Given the description of an element on the screen output the (x, y) to click on. 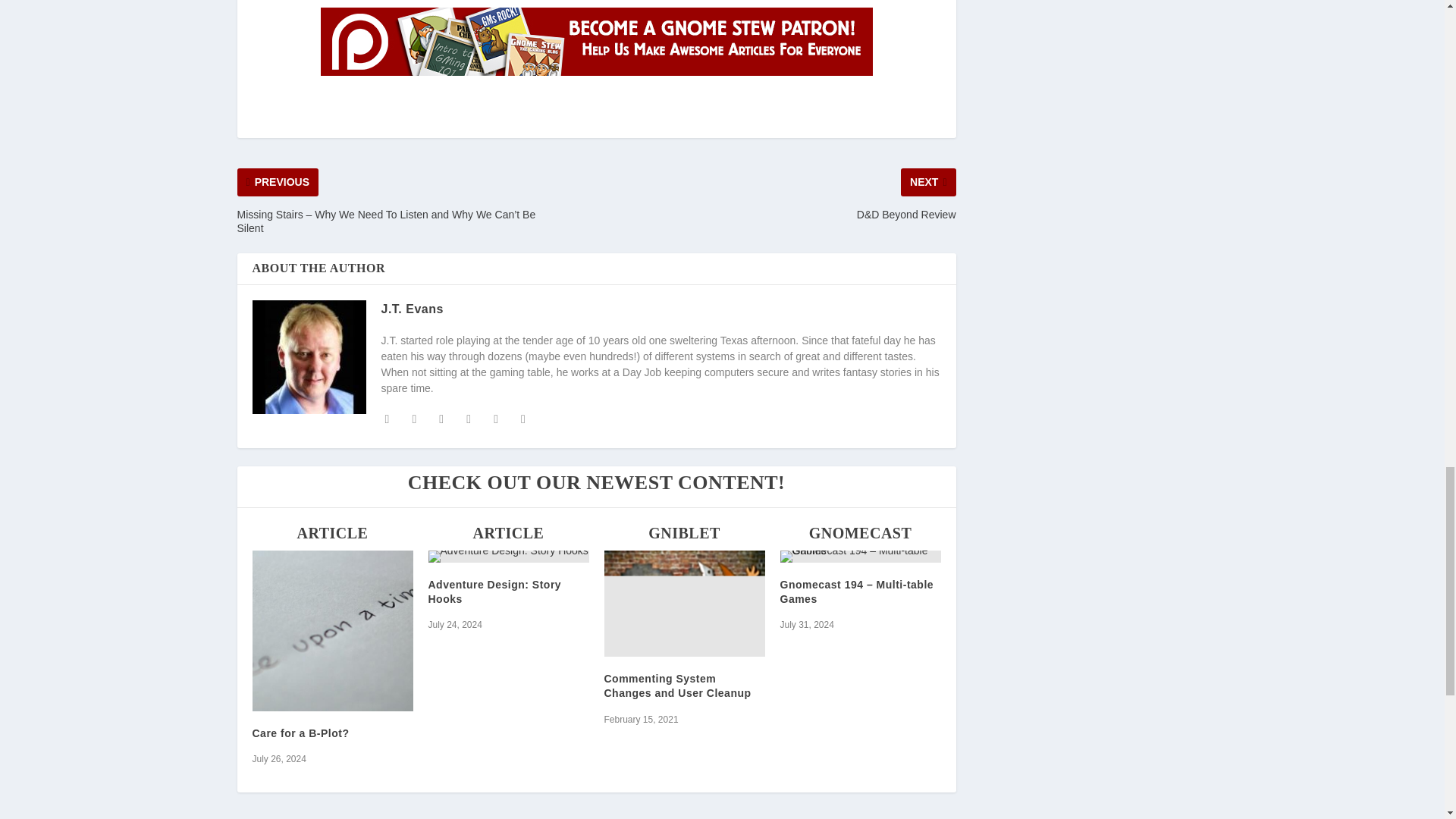
Adventure Design: Story Hooks (508, 556)
Commenting System Changes and User Cleanup (684, 603)
Care for a B-Plot? (331, 630)
View all posts by J.T. Evans (411, 308)
